Given the description of an element on the screen output the (x, y) to click on. 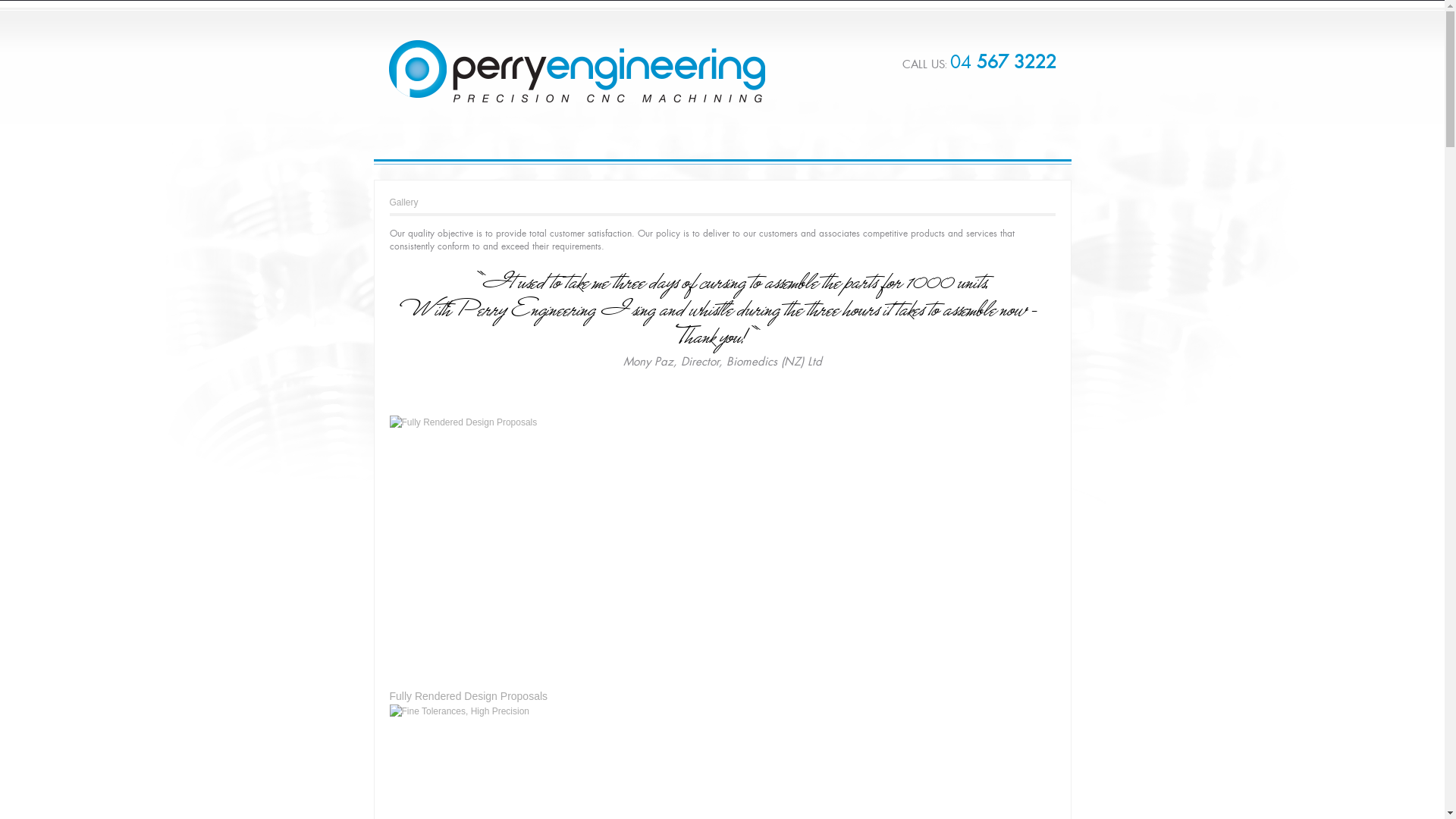
Go to site home page (576, 71)
